Given the description of an element on the screen output the (x, y) to click on. 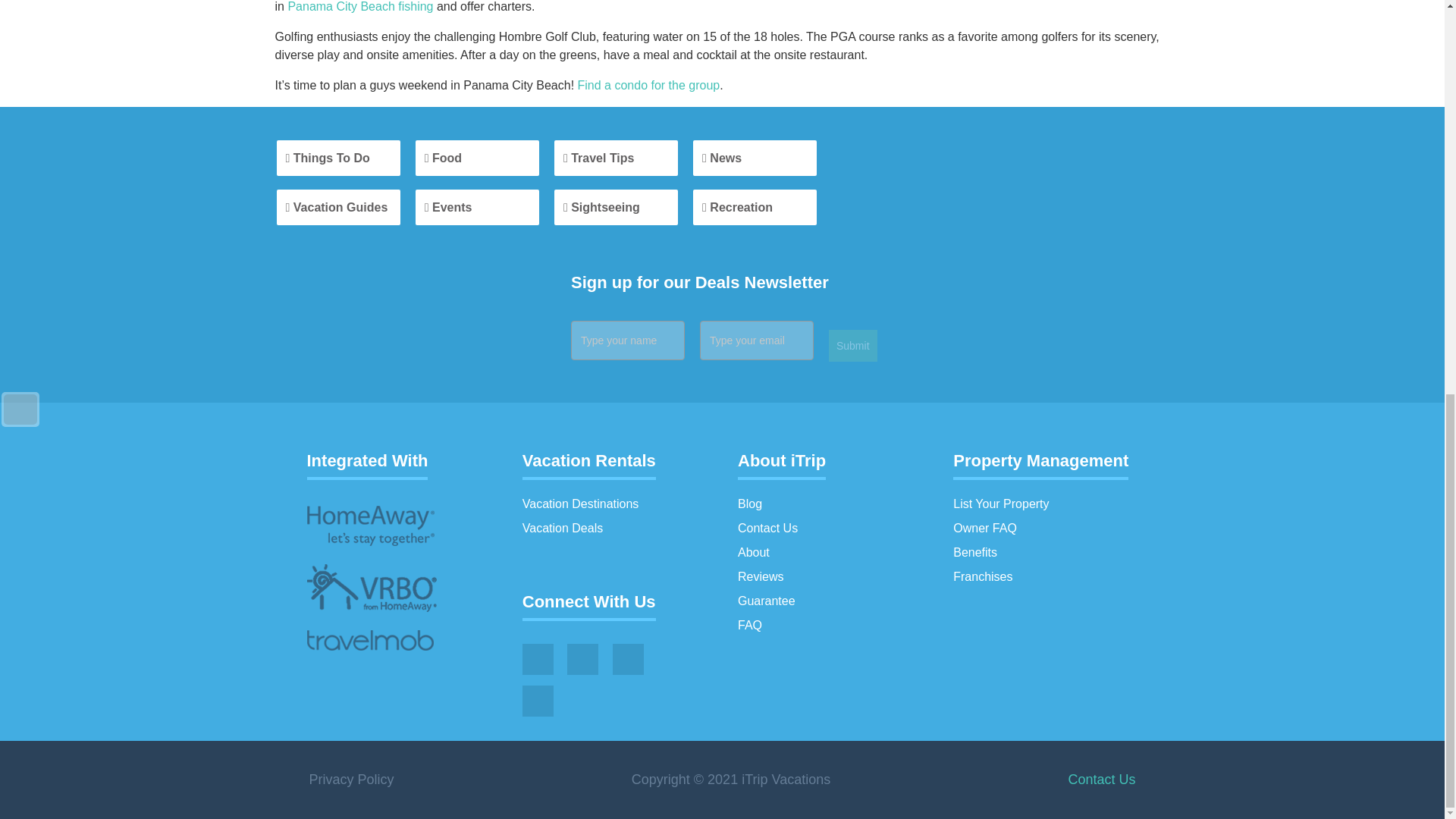
Vacation Guides (337, 207)
Submit (852, 345)
About (754, 552)
Travel Tips (616, 158)
Events (476, 207)
Recreation (754, 207)
Reviews (760, 576)
Sightseeing (616, 207)
Blog (749, 503)
Contact Us (767, 527)
Vacation Destinations (580, 503)
Benefits (975, 552)
FAQ (749, 625)
Food (476, 158)
Find a condo for the group (649, 84)
